Given the description of an element on the screen output the (x, y) to click on. 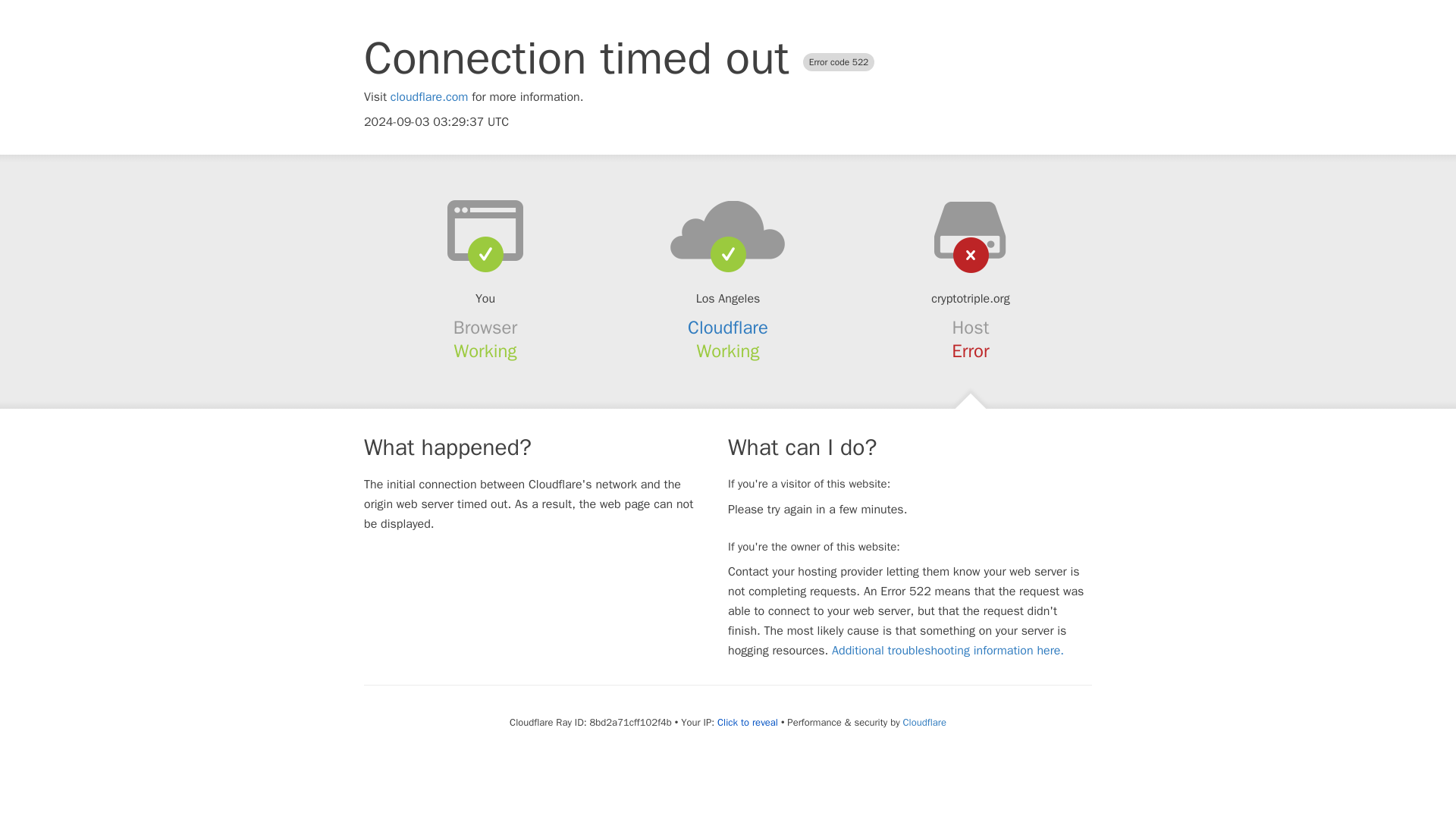
Additional troubleshooting information here. (947, 650)
Click to reveal (747, 722)
Cloudflare (727, 327)
cloudflare.com (429, 96)
Cloudflare (924, 721)
